Given the description of an element on the screen output the (x, y) to click on. 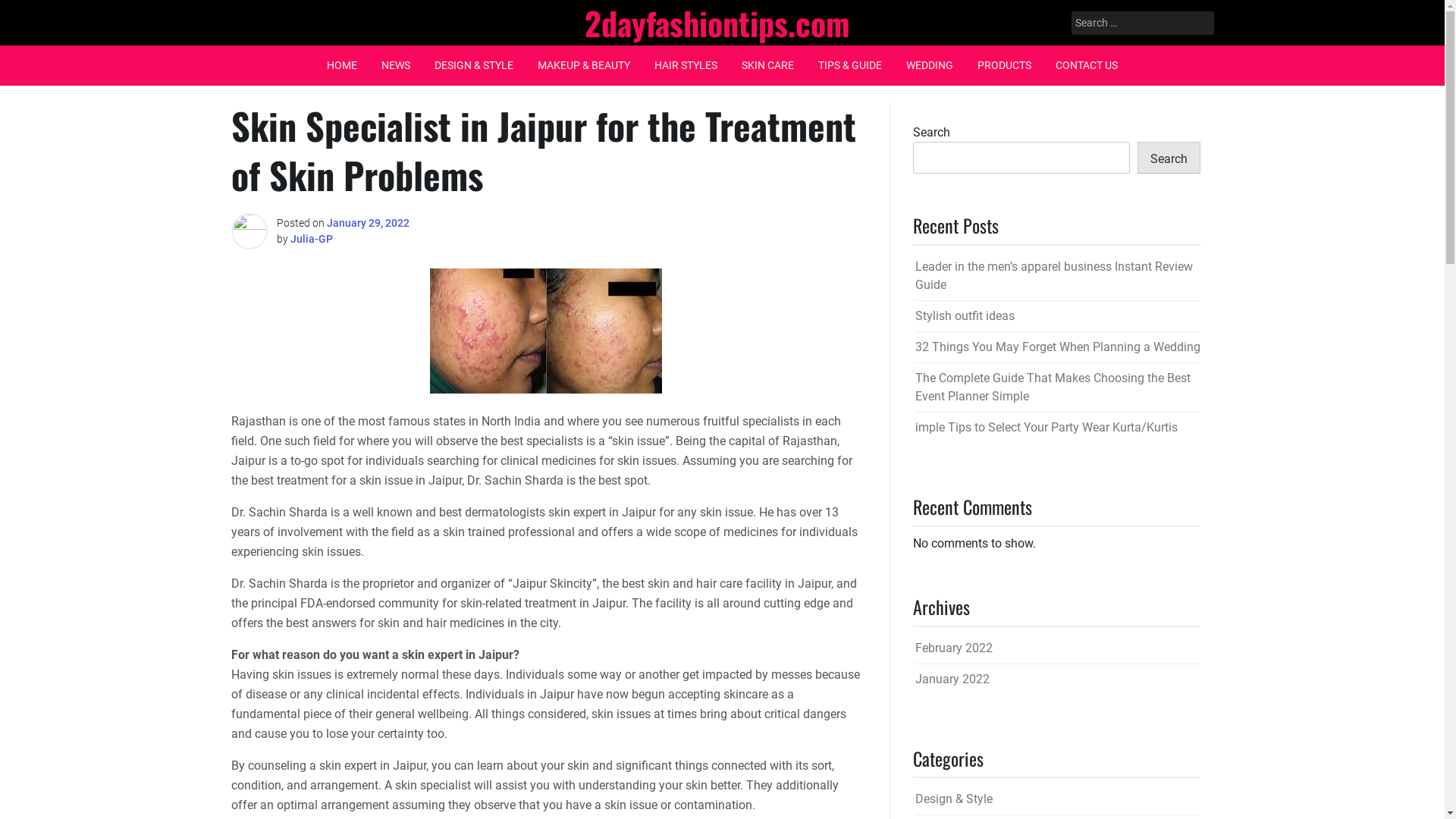
MAKEUP & BEAUTY Element type: text (583, 65)
February 2022 Element type: text (952, 647)
PRODUCTS Element type: text (1004, 65)
NEWS Element type: text (395, 65)
Search Element type: text (30, 12)
January 29, 2022 Element type: text (367, 222)
Search Element type: text (31, 12)
HOME Element type: text (341, 65)
imple Tips to Select Your Party Wear Kurta/Kurtis Element type: text (1045, 427)
Search Element type: text (1168, 157)
Julia-GP Element type: text (310, 238)
Stylish outfit ideas Element type: text (963, 315)
WEDDING Element type: text (929, 65)
DESIGN & STYLE Element type: text (473, 65)
TIPS & GUIDE Element type: text (850, 65)
Design & Style Element type: text (952, 798)
CONTACT US Element type: text (1086, 65)
HAIR STYLES Element type: text (685, 65)
January 2022 Element type: text (951, 678)
SKIN CARE Element type: text (767, 65)
32 Things You May Forget When Planning a Wedding Element type: text (1056, 346)
